Given the description of an element on the screen output the (x, y) to click on. 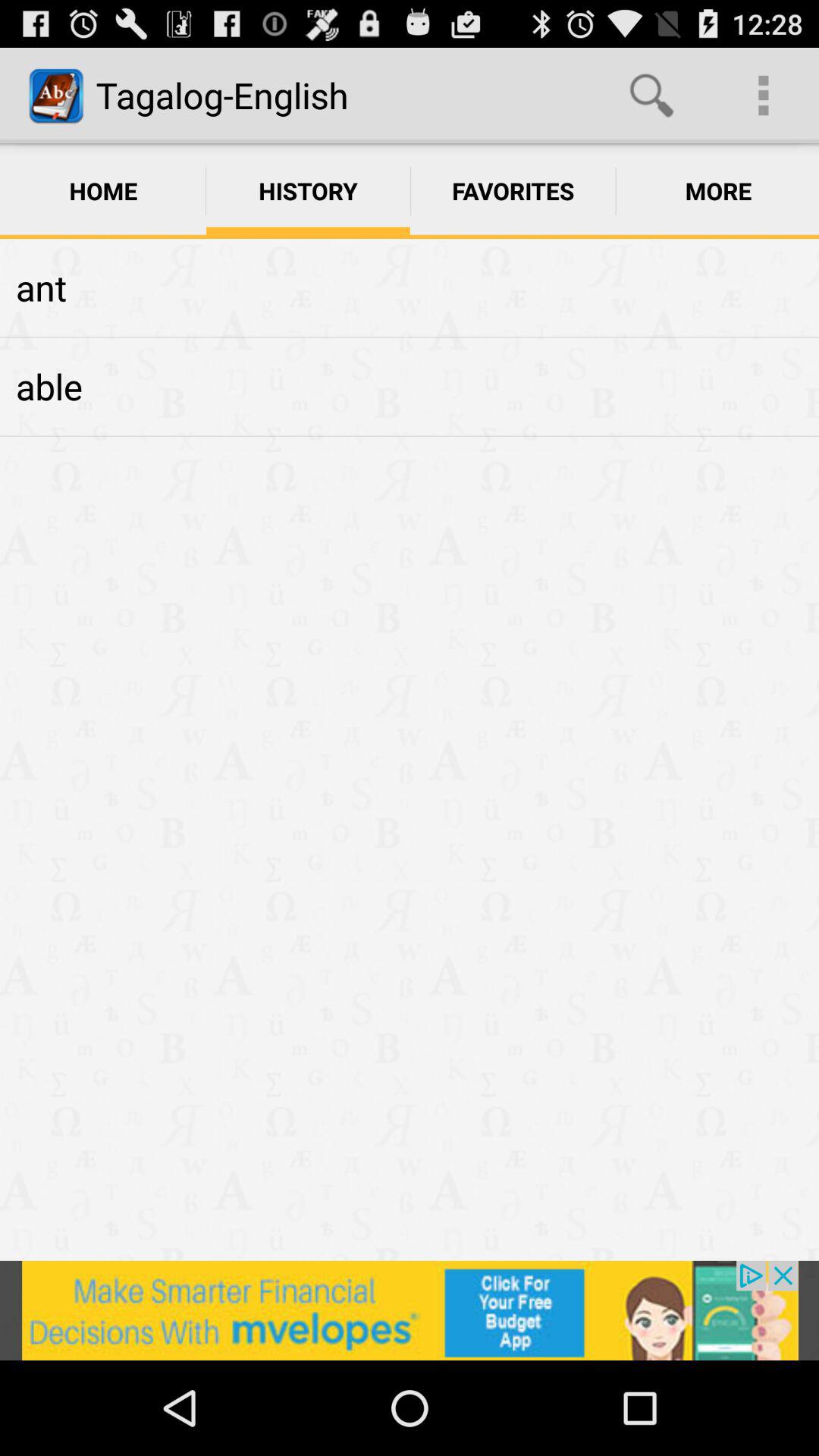
click for advertisement (409, 1310)
